Given the description of an element on the screen output the (x, y) to click on. 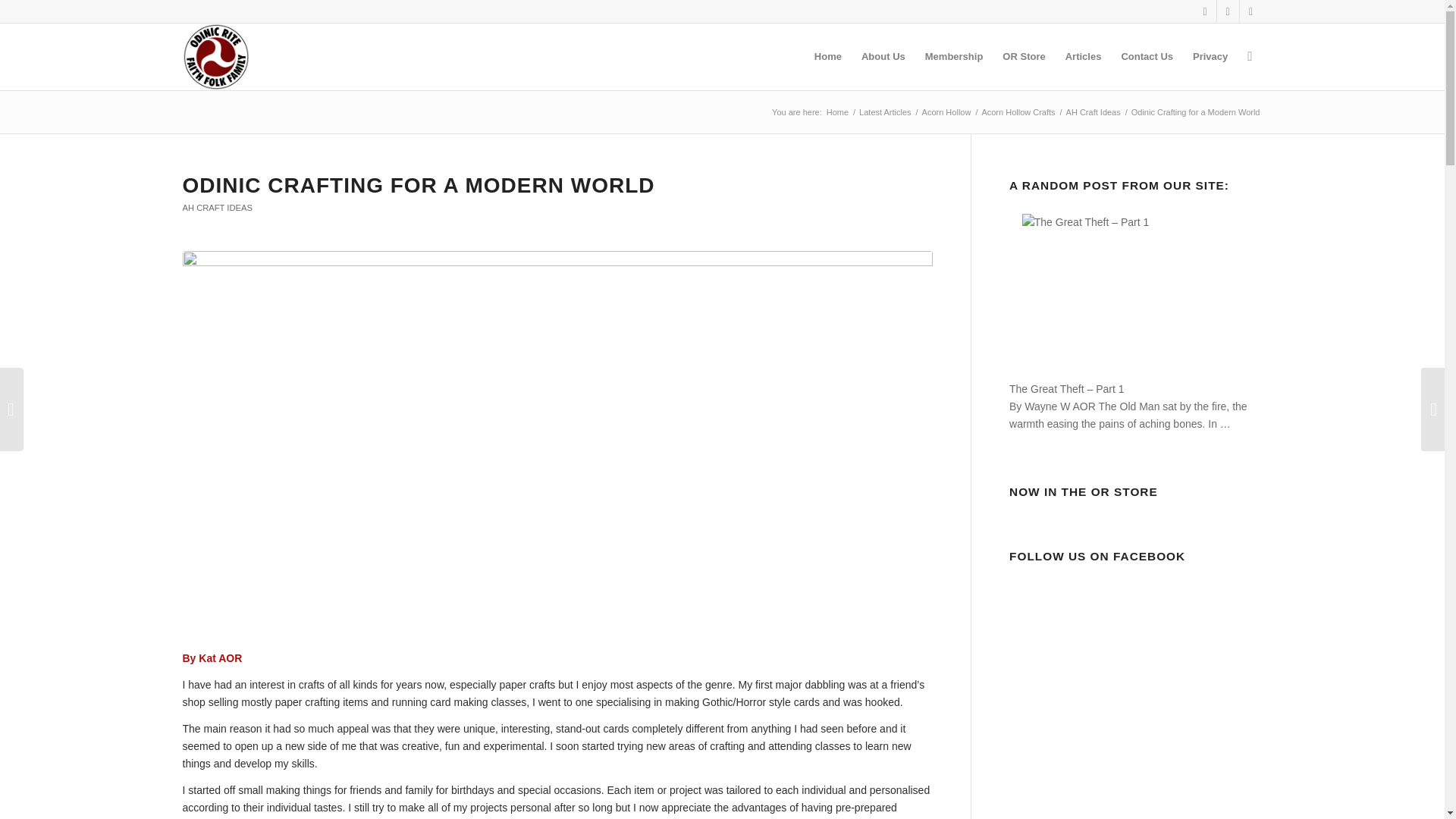
The Odinic Rite (837, 112)
About Us (883, 56)
or-badge400-transp (215, 56)
Latest Articles (884, 112)
Twitter (1204, 11)
Facebook (1227, 11)
OR Store (1023, 56)
Membership (953, 56)
Youtube (1250, 11)
